Given the description of an element on the screen output the (x, y) to click on. 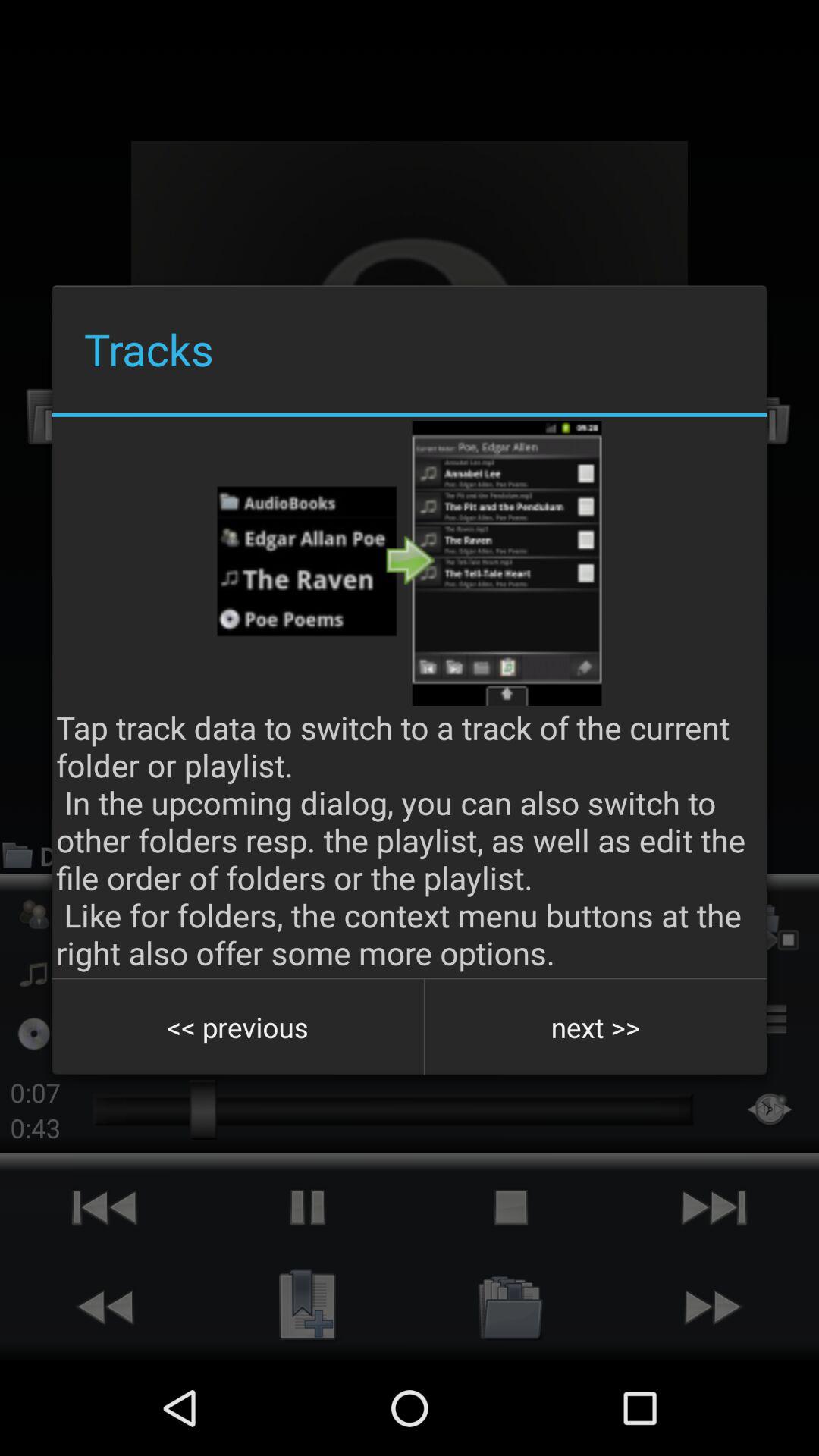
jump to the next >> icon (595, 1026)
